Given the description of an element on the screen output the (x, y) to click on. 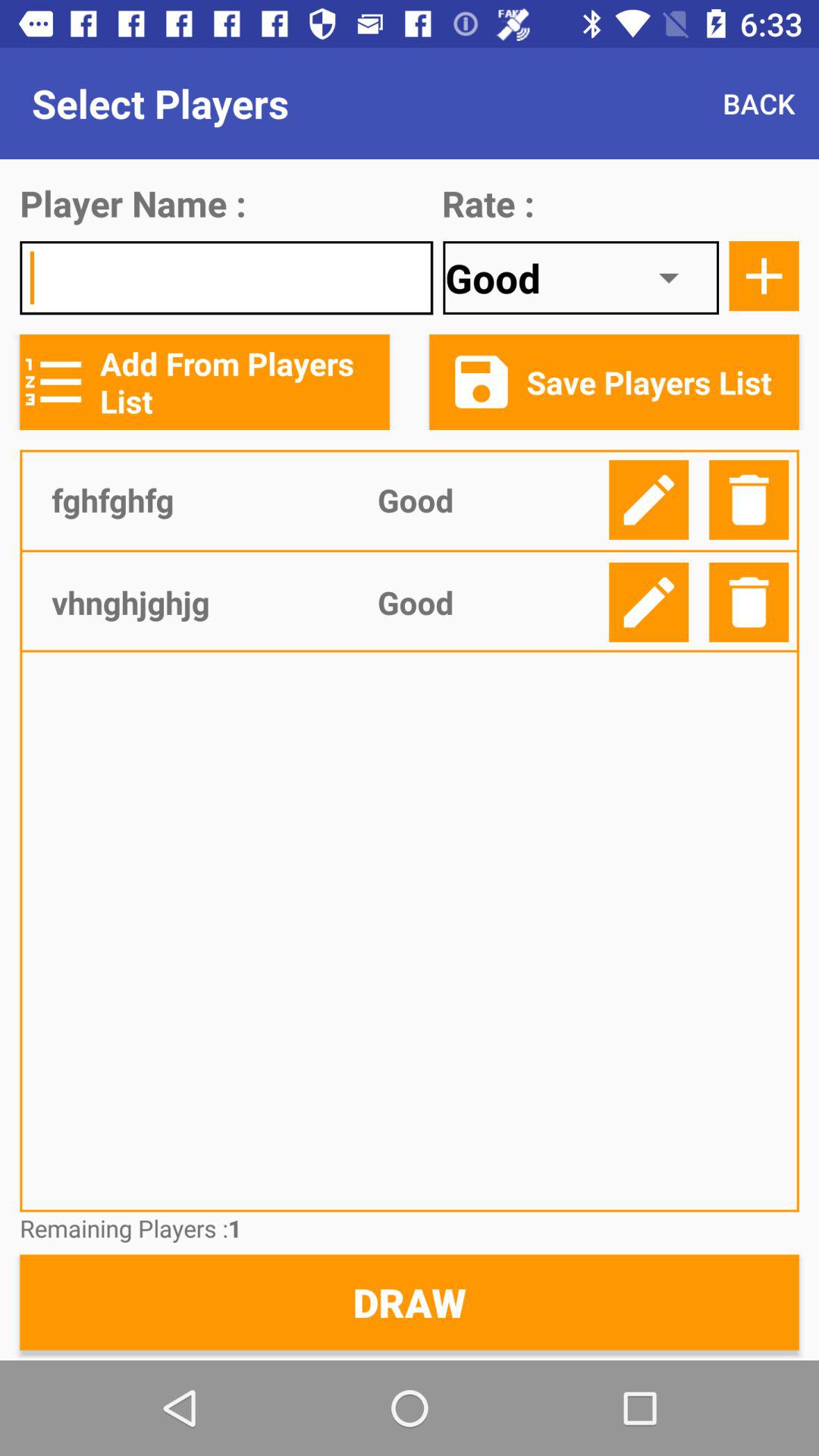
input field (225, 277)
